Given the description of an element on the screen output the (x, y) to click on. 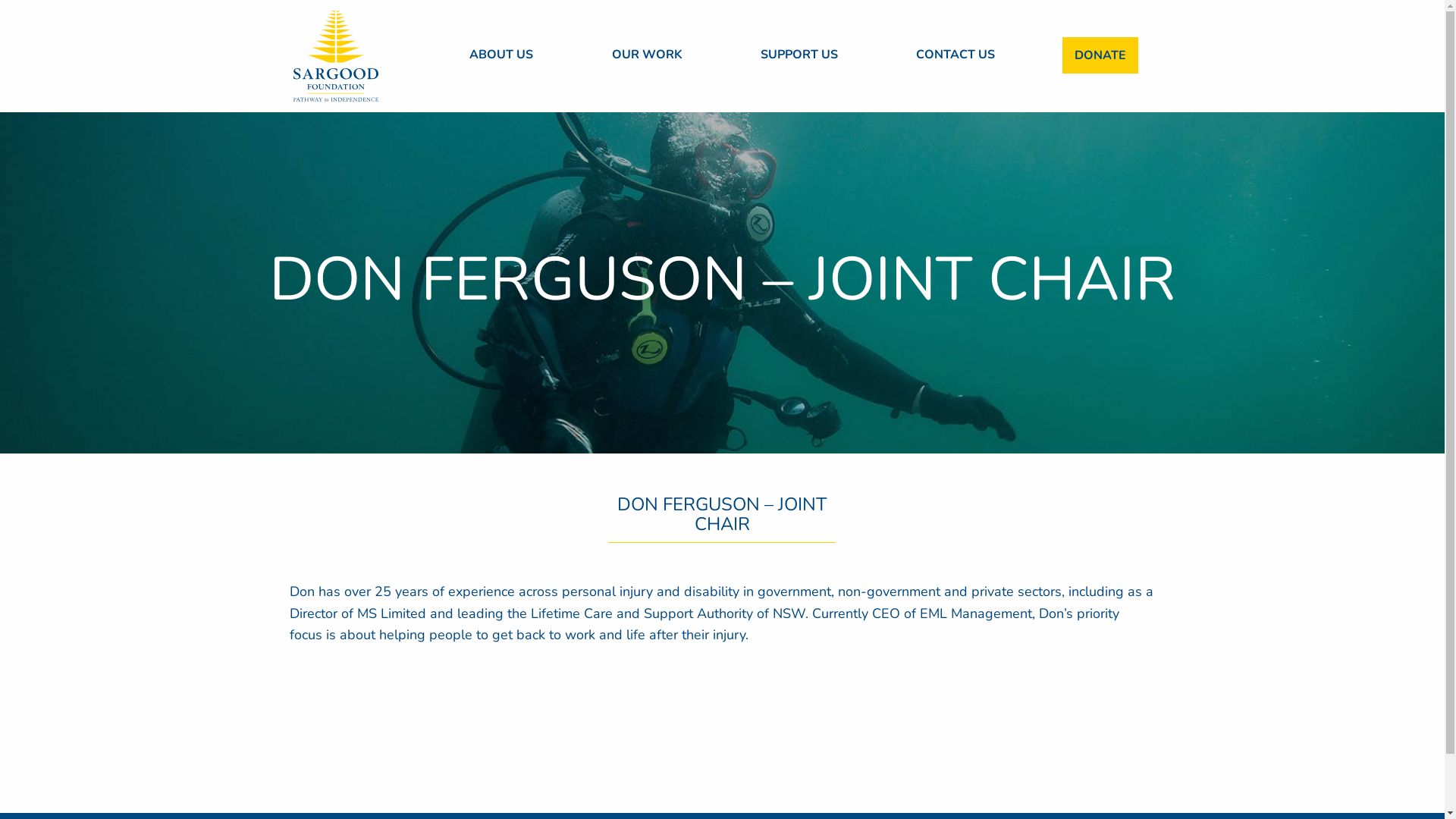
CONTACT US Element type: text (955, 54)
ABOUT US Element type: text (501, 54)
DONATE Element type: text (1100, 55)
SUPPORT US Element type: text (799, 54)
OUR WORK Element type: text (646, 54)
